Given the description of an element on the screen output the (x, y) to click on. 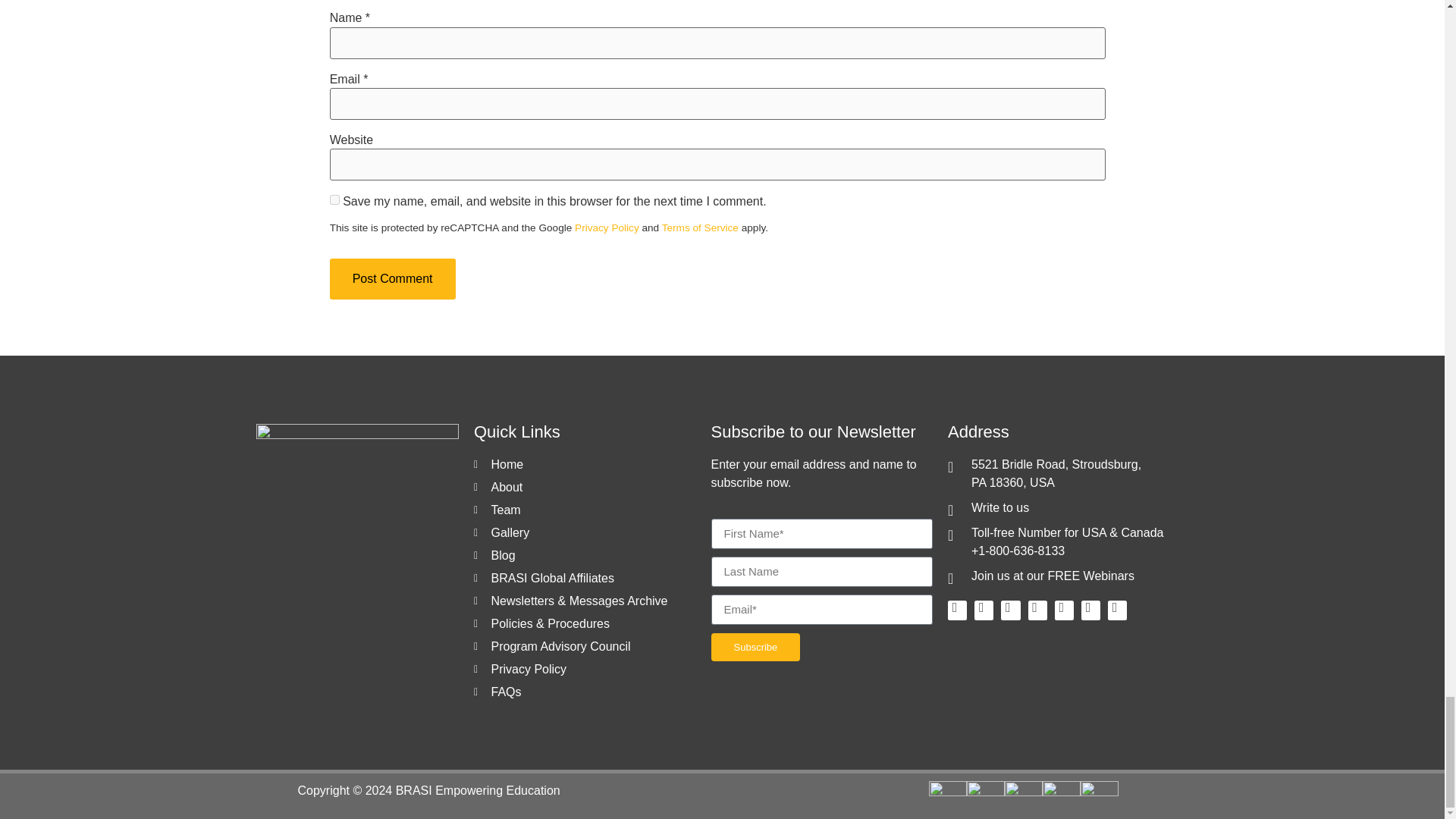
About (584, 487)
BRASI Global Affiliates (584, 578)
Gallery (584, 533)
yes (334, 199)
Privacy Policy (607, 227)
Terms of Service (700, 227)
Post Comment (392, 278)
Team (584, 510)
Blog (584, 556)
Post Comment (392, 278)
